Given the description of an element on the screen output the (x, y) to click on. 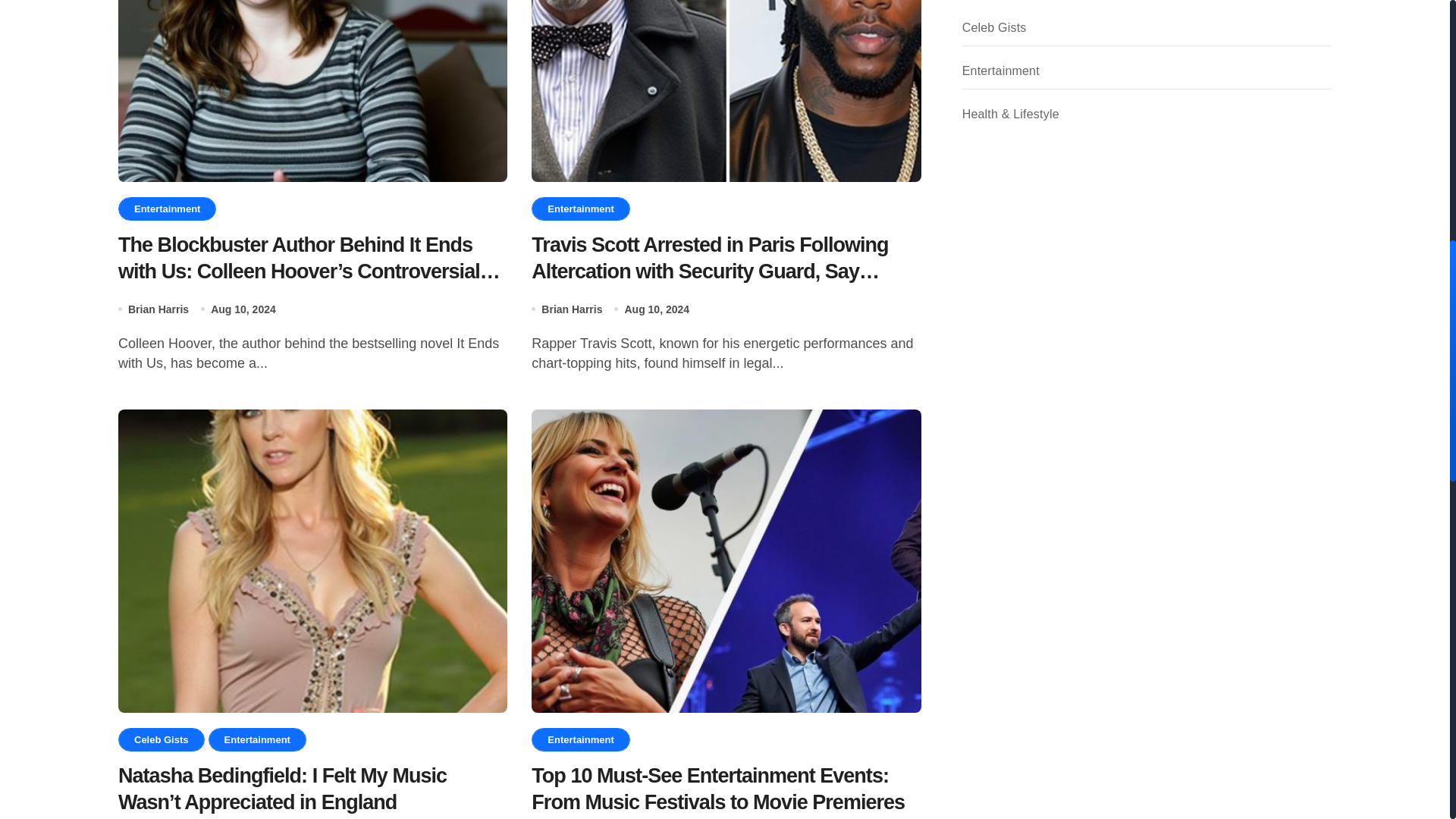
Brian Harris (158, 309)
Celeb Gists (161, 739)
Brian Harris (571, 309)
Entertainment (579, 739)
Entertainment (256, 739)
Entertainment (166, 208)
Entertainment (579, 208)
Aug 10, 2024 (656, 309)
Aug 10, 2024 (243, 309)
